Given the description of an element on the screen output the (x, y) to click on. 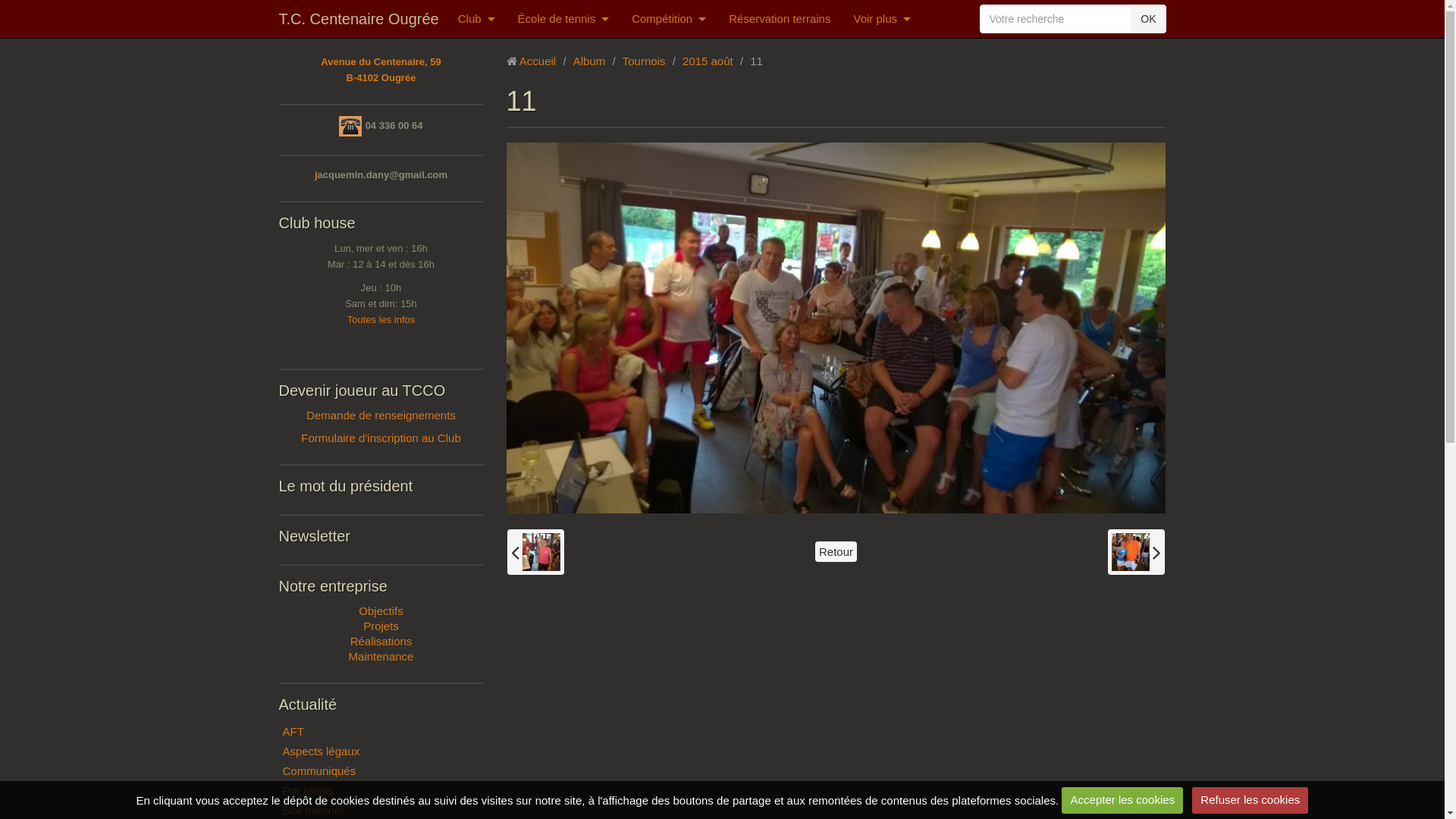
Formulaire d'inscription au Club Element type: text (380, 437)
Retour Element type: text (835, 551)
Tournois Element type: text (643, 60)
Maintenance Element type: text (381, 655)
Accepter les cookies Element type: text (1122, 800)
OK Element type: text (1147, 18)
AFT Element type: text (381, 731)
Photo suivante Element type: hover (1135, 551)
Projets Element type: text (380, 625)
Album Element type: text (589, 60)
Pur tennis Element type: text (381, 790)
Accueil Element type: text (537, 60)
Newsletter Element type: text (314, 535)
Objectifs Element type: text (380, 610)
Club Element type: text (476, 18)
Refuser les cookies Element type: text (1250, 800)
Toutes les infos Element type: text (381, 319)
j Element type: text (315, 174)
Demande de renseignements Element type: text (380, 414)
Voir plus Element type: text (881, 18)
